Given the description of an element on the screen output the (x, y) to click on. 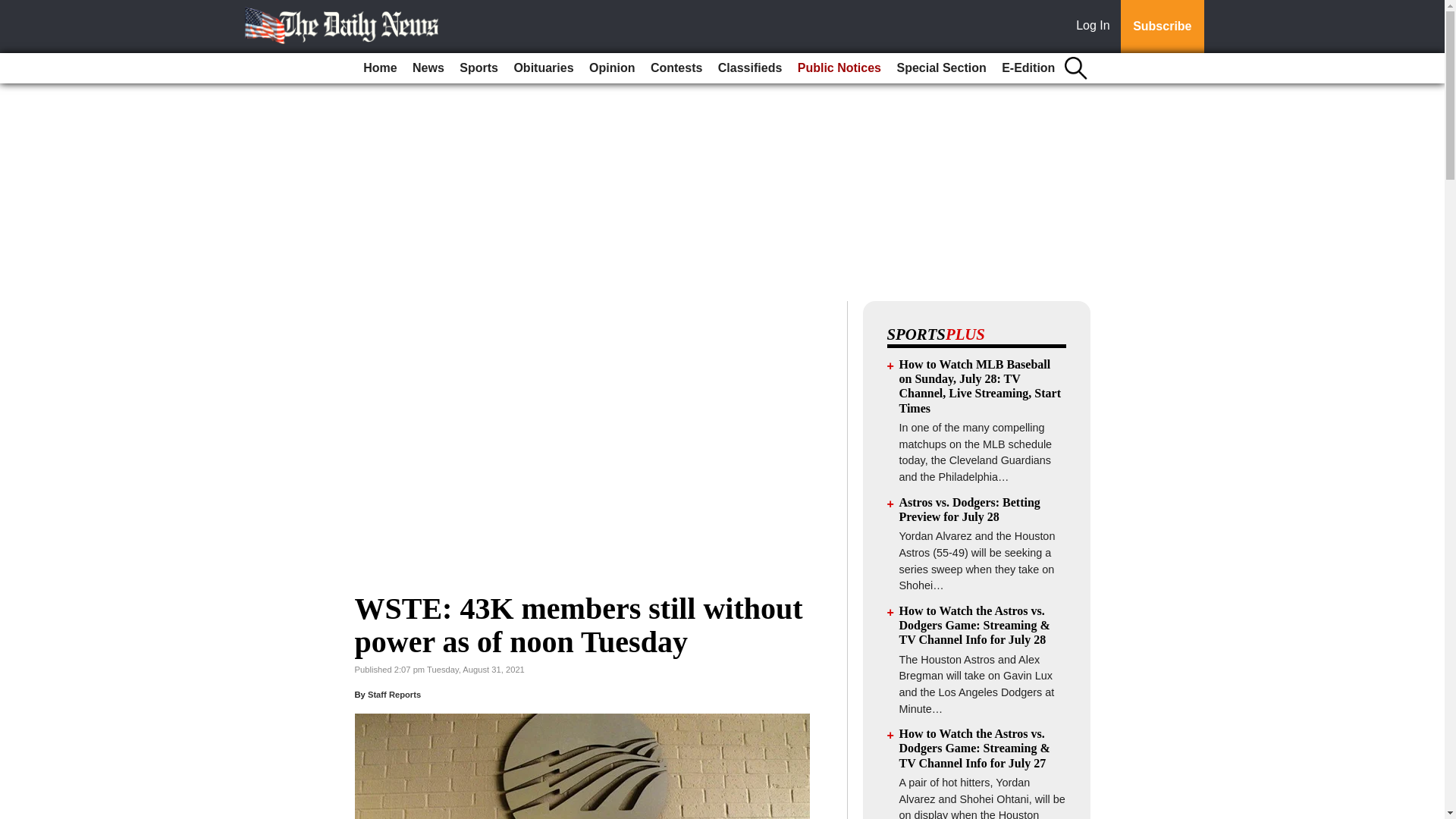
Home (379, 68)
Log In (1095, 26)
Go (13, 9)
E-Edition (1028, 68)
Staff Reports (394, 694)
Sports (477, 68)
Classifieds (749, 68)
Astros vs. Dodgers: Betting Preview for July 28 (970, 509)
News (427, 68)
Obituaries (542, 68)
Contests (676, 68)
Special Section (940, 68)
Public Notices (839, 68)
Opinion (611, 68)
